Given the description of an element on the screen output the (x, y) to click on. 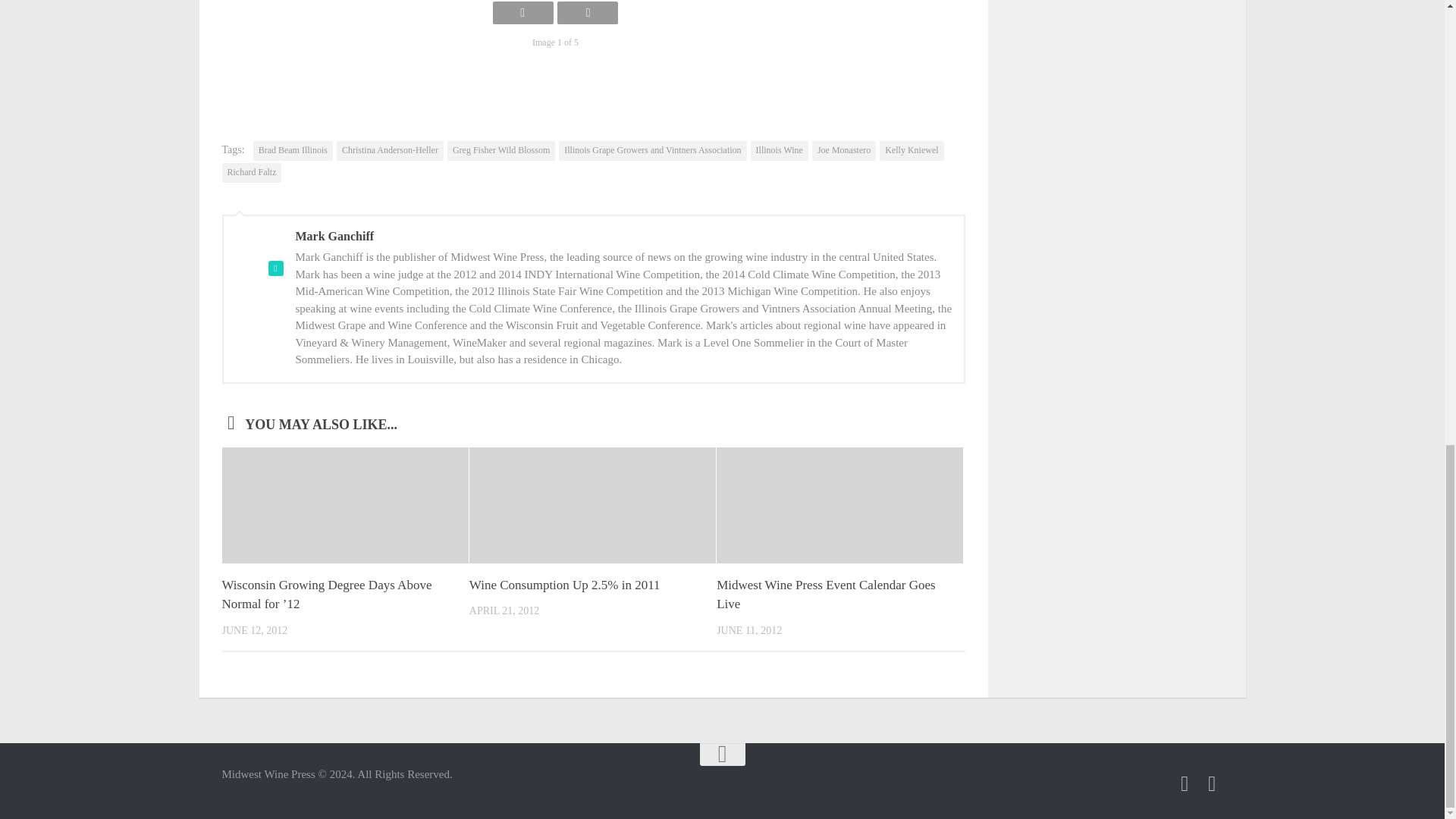
Kelly Kniewel (911, 150)
Richard Faltz (251, 172)
Illinois Wine (779, 150)
Christina Anderson-Heller (390, 150)
Follow us on Twitter (1212, 783)
Brad Beam Illinois (293, 150)
Joe Monastero (844, 150)
Illinois Grape Growers and Vintners Association (652, 150)
Follow us on Facebook (1184, 783)
Greg Fisher Wild Blossom (500, 150)
